Given the description of an element on the screen output the (x, y) to click on. 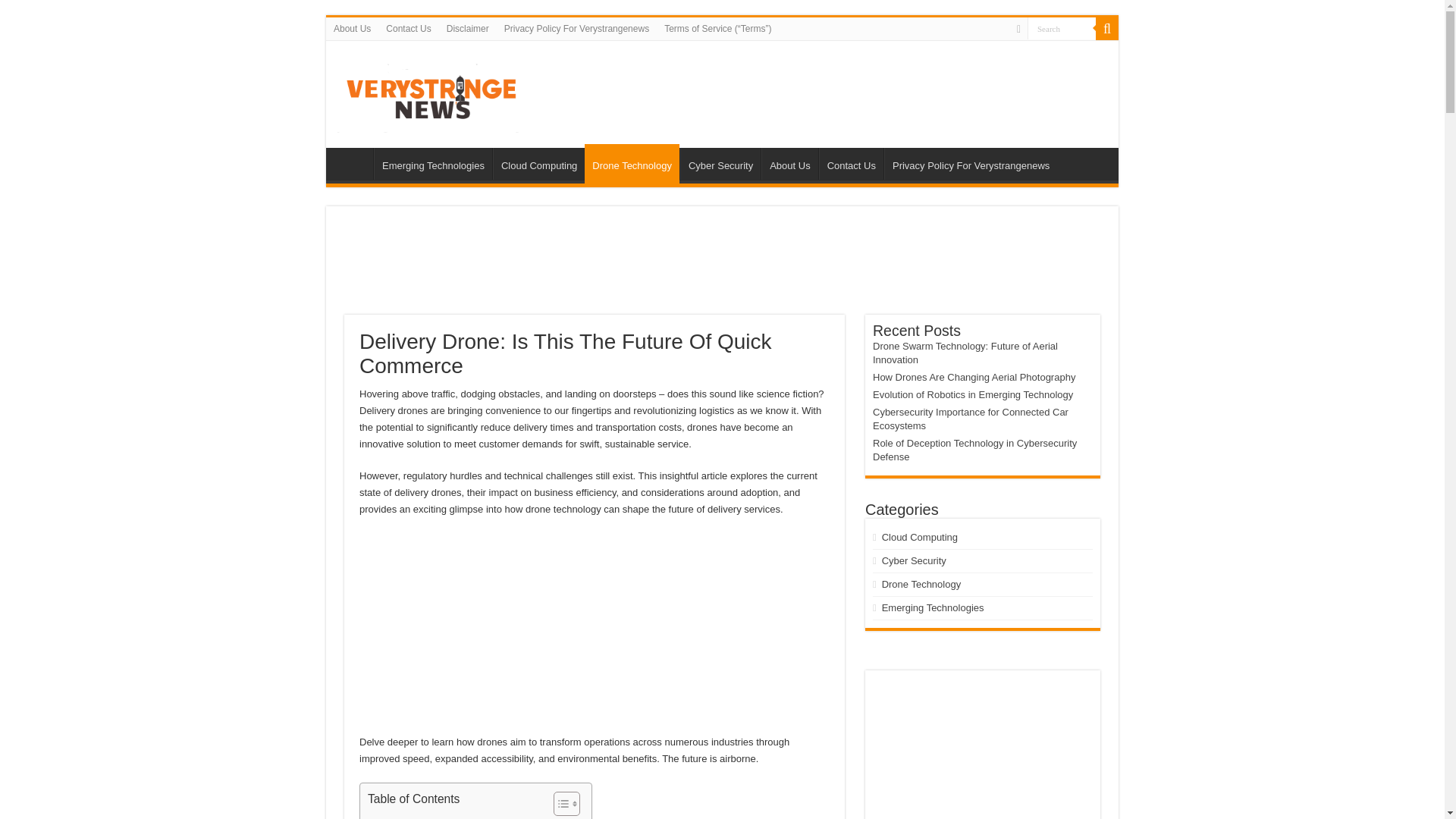
About Us (788, 163)
Contact Us (408, 28)
Cyber Security (719, 163)
Drone Technology (632, 163)
Emerging Technologies (433, 163)
Search (1061, 28)
Search (1061, 28)
Search (1061, 28)
Drone Swarm Technology: Future of Aerial Innovation (965, 352)
Cloud Computing (539, 163)
